Given the description of an element on the screen output the (x, y) to click on. 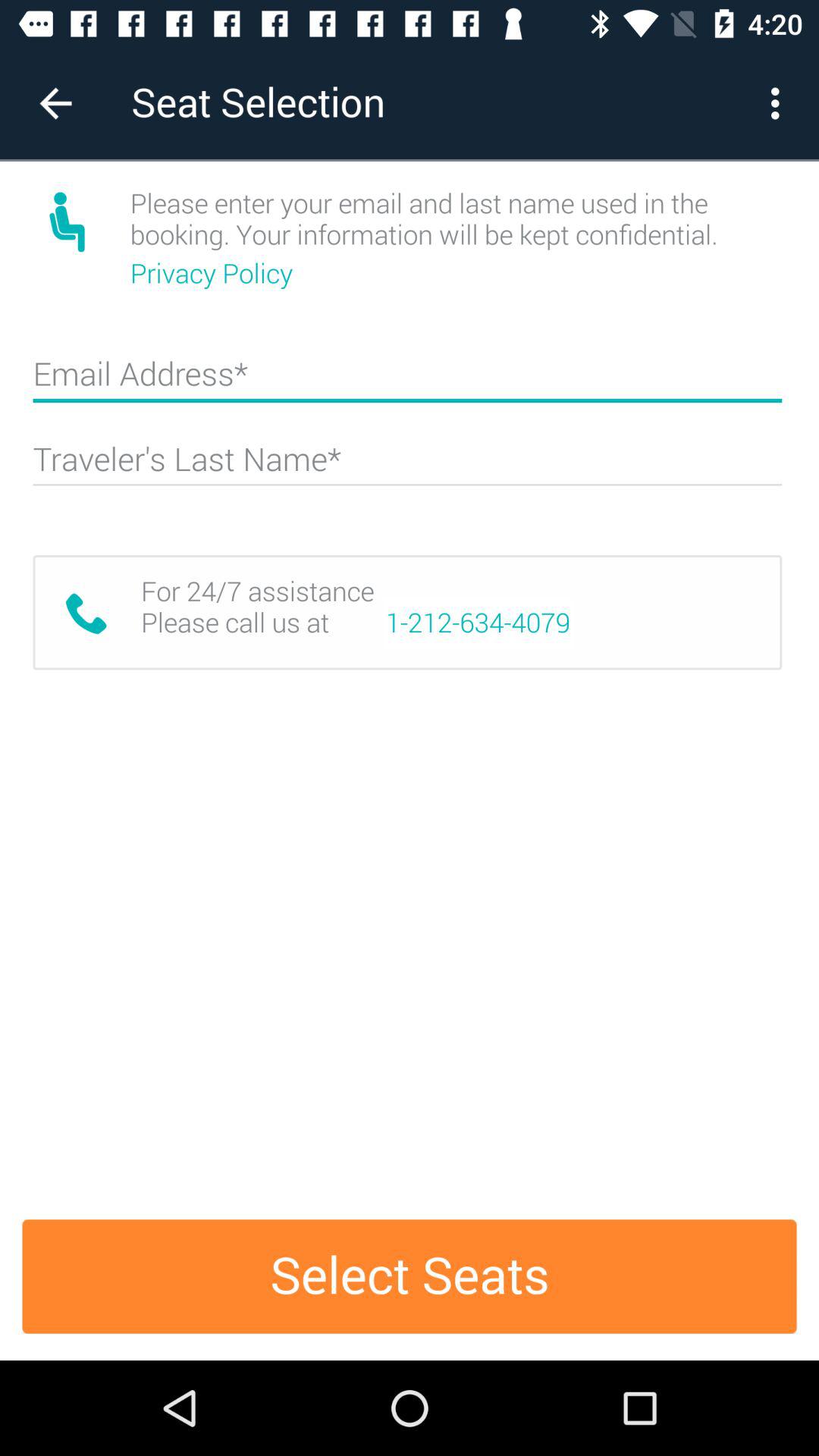
type email address (407, 380)
